Given the description of an element on the screen output the (x, y) to click on. 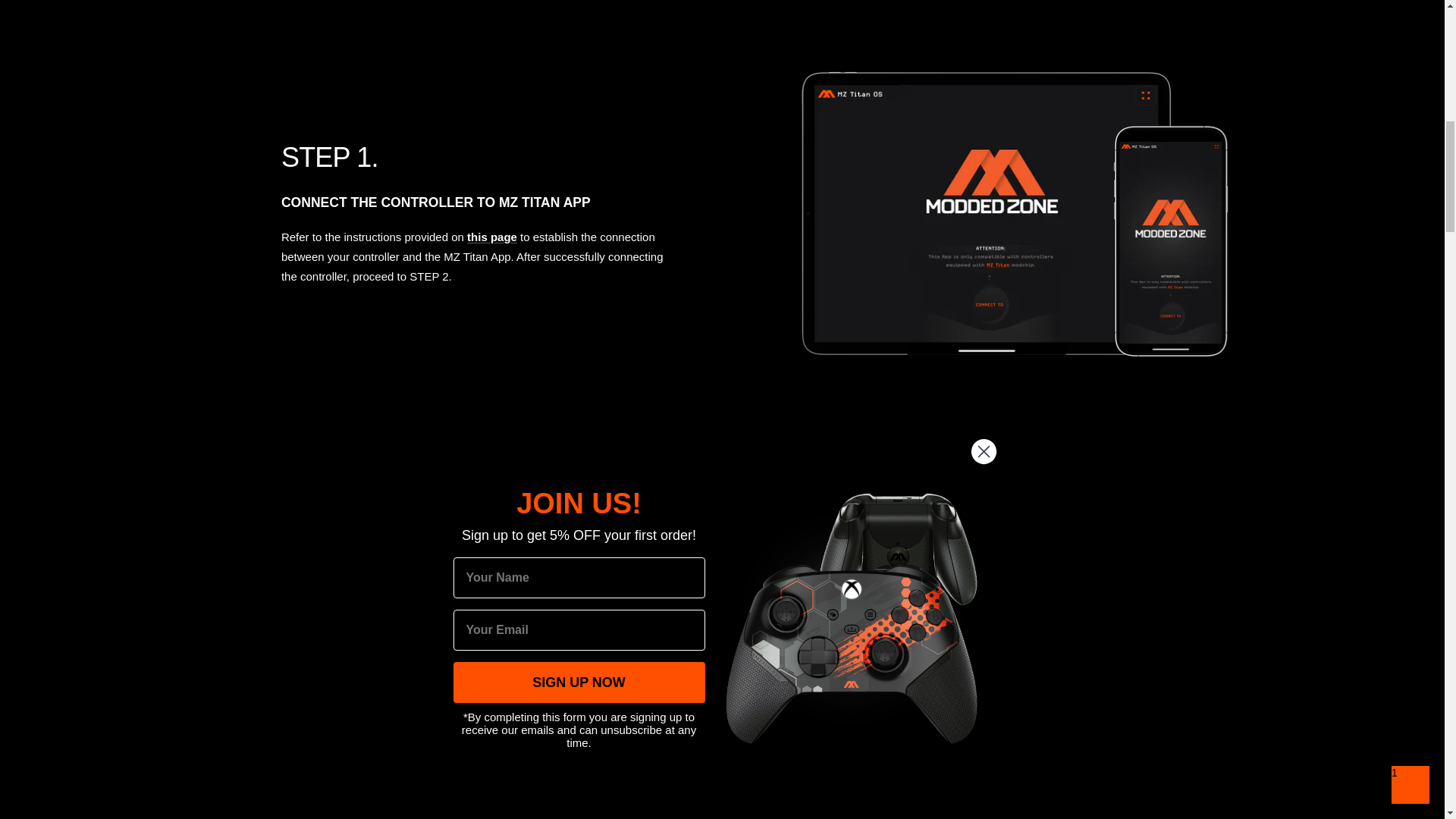
this page (491, 236)
Connecting the controller to MZ Titan App (491, 236)
